Given the description of an element on the screen output the (x, y) to click on. 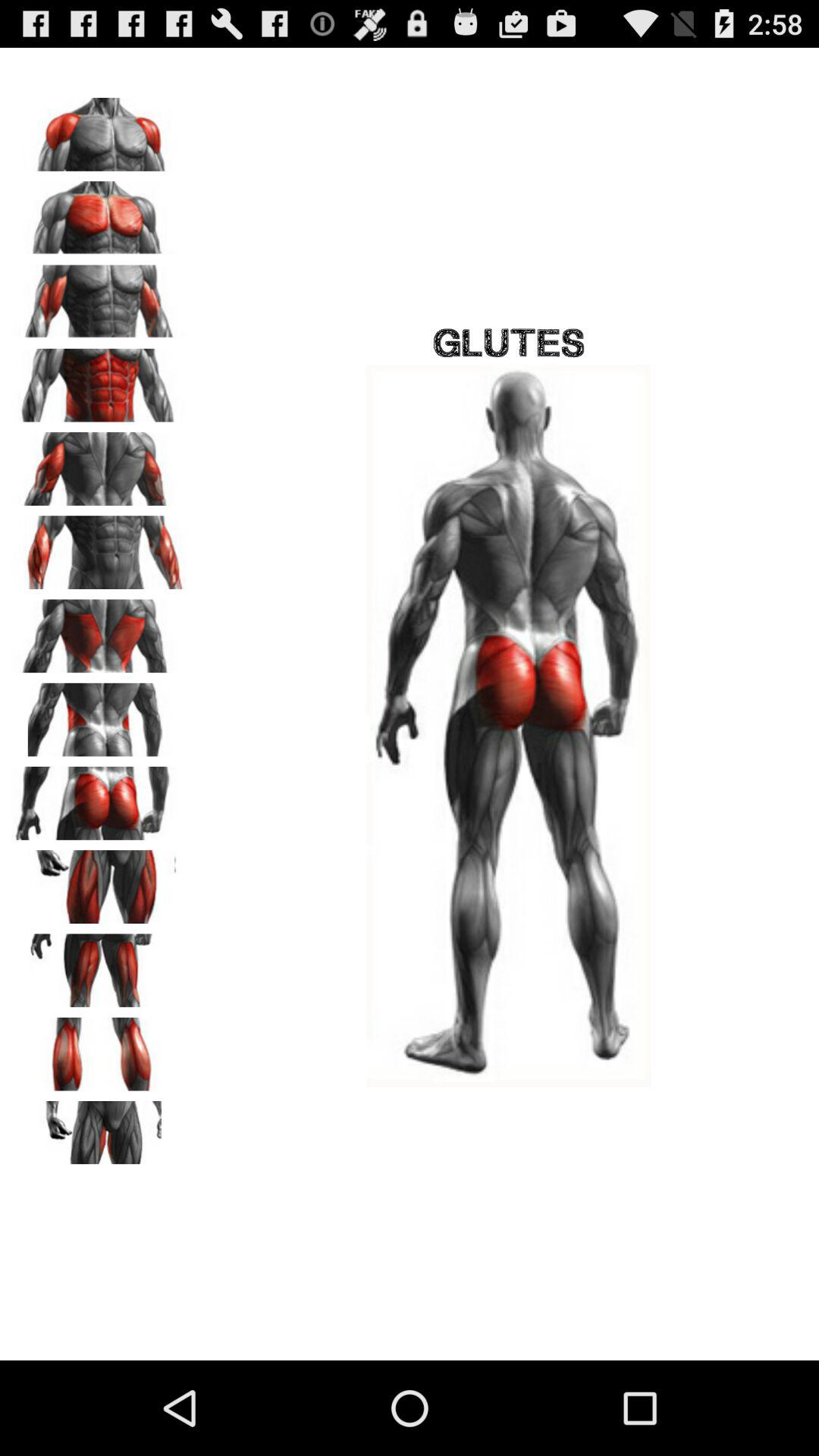
change the view of body part (99, 1132)
